Given the description of an element on the screen output the (x, y) to click on. 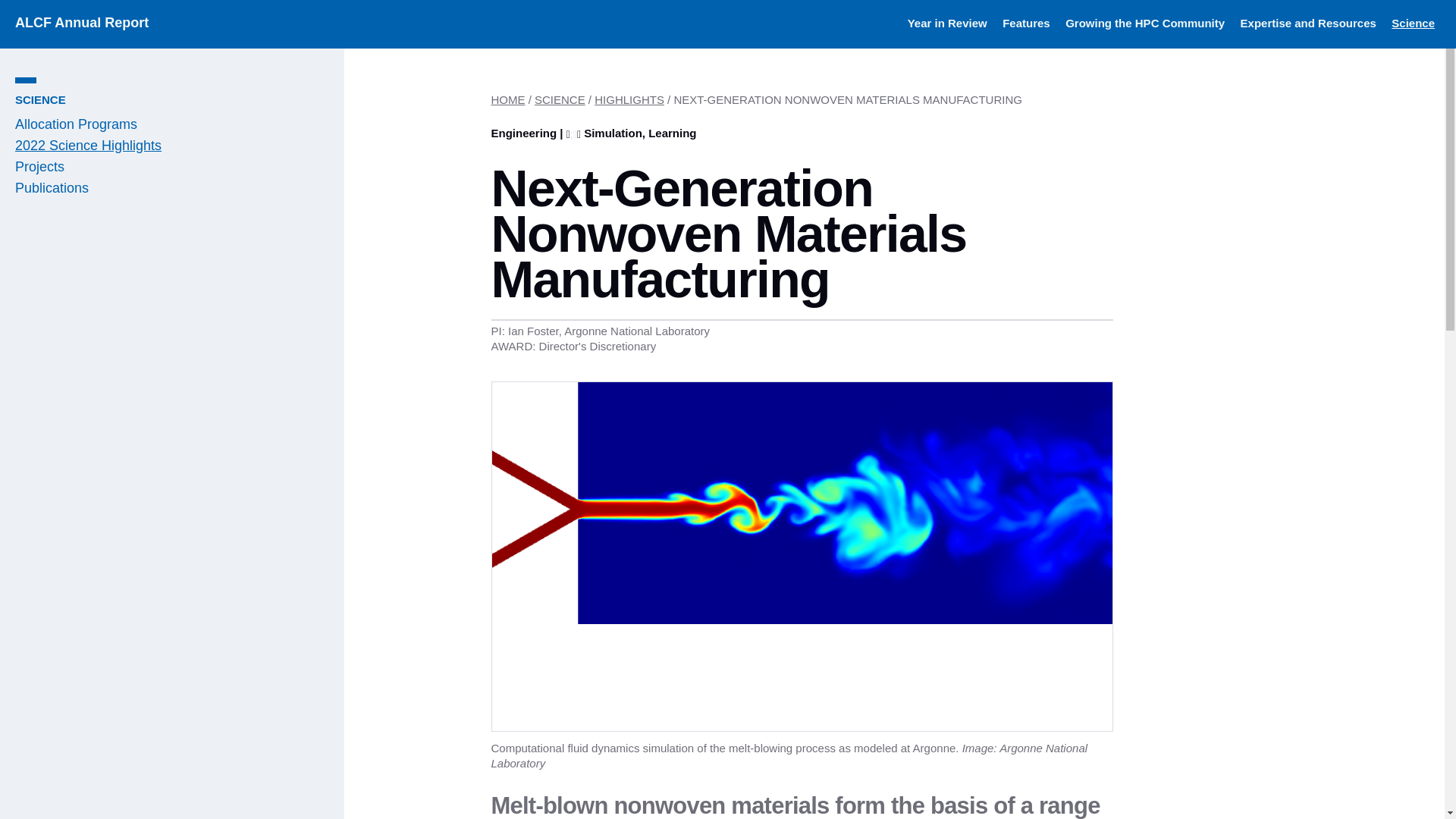
Science (1412, 22)
2022 Science Highlights (87, 145)
HOME (508, 99)
Expertise and Resources (1307, 22)
Allocation Programs (75, 124)
Projects (39, 166)
Publications (51, 187)
Growing the HPC Community (1144, 22)
Features (1026, 22)
ALCF Annual Report (81, 22)
